Given the description of an element on the screen output the (x, y) to click on. 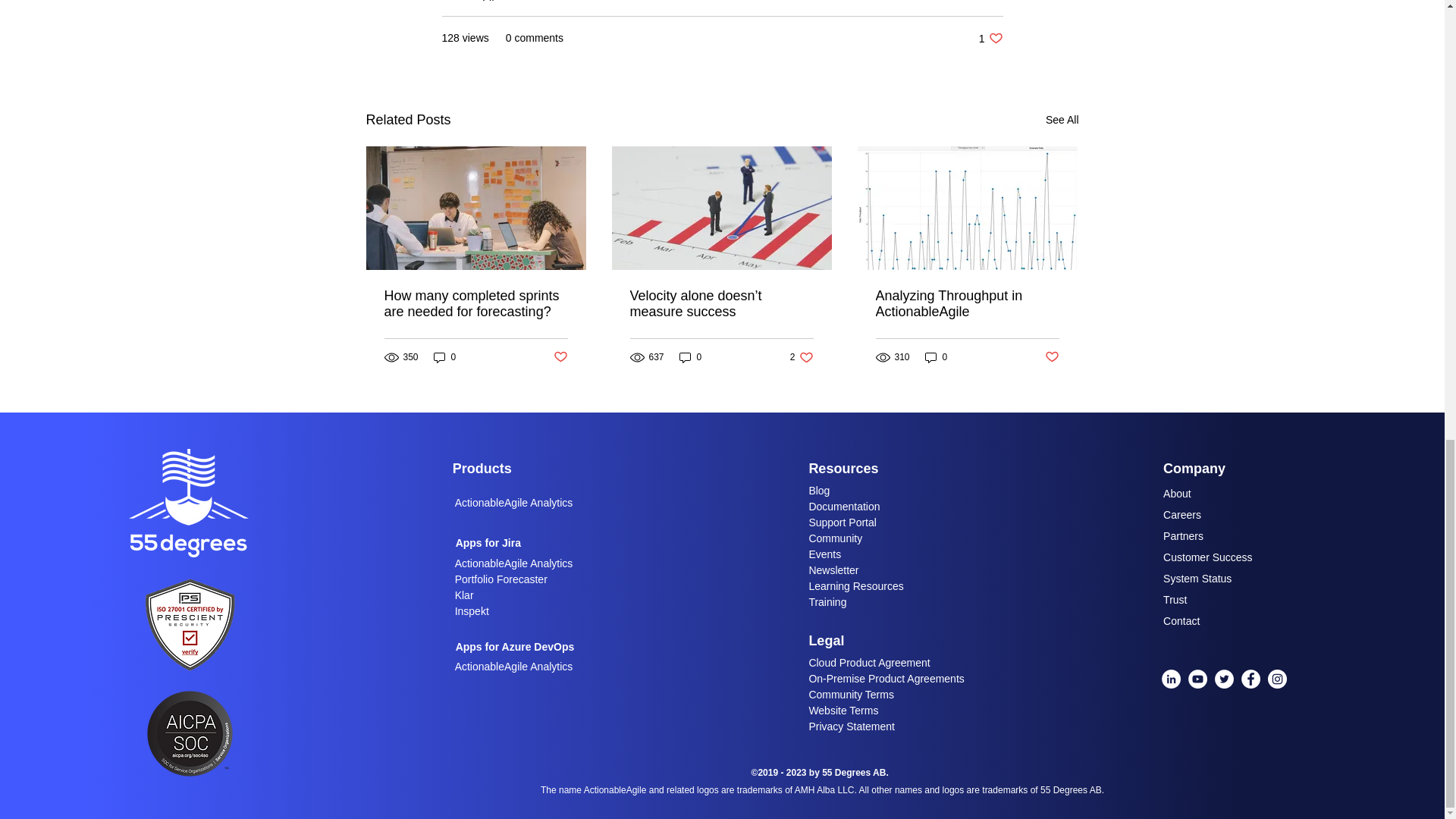
See All (1061, 119)
0 (445, 357)
Logo 1.png (190, 624)
Post not marked as liked (990, 38)
How many completed sprints are needed for forecasting? (560, 357)
